Given the description of an element on the screen output the (x, y) to click on. 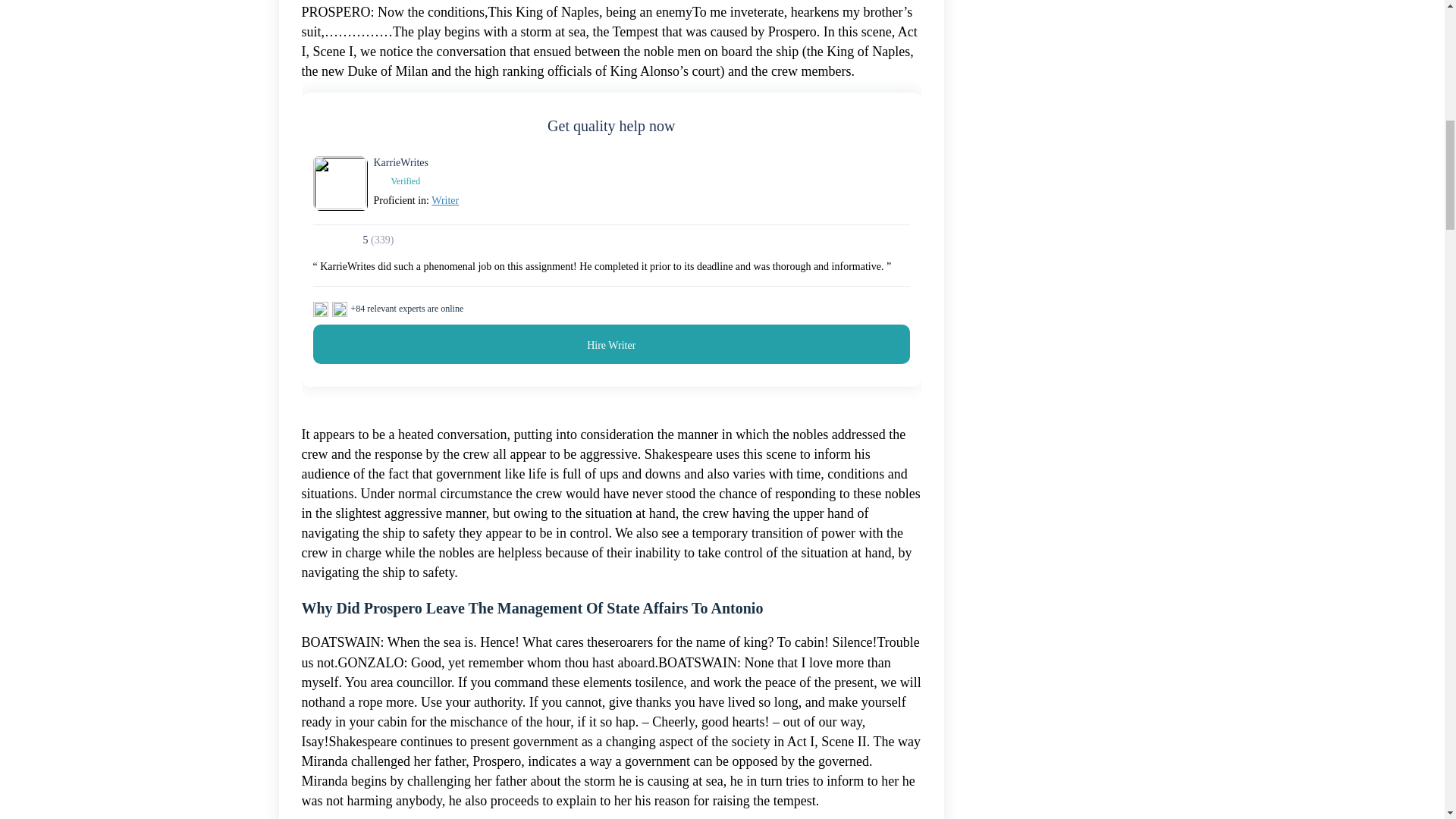
Hire Writer (611, 343)
Writer (444, 200)
